Given the description of an element on the screen output the (x, y) to click on. 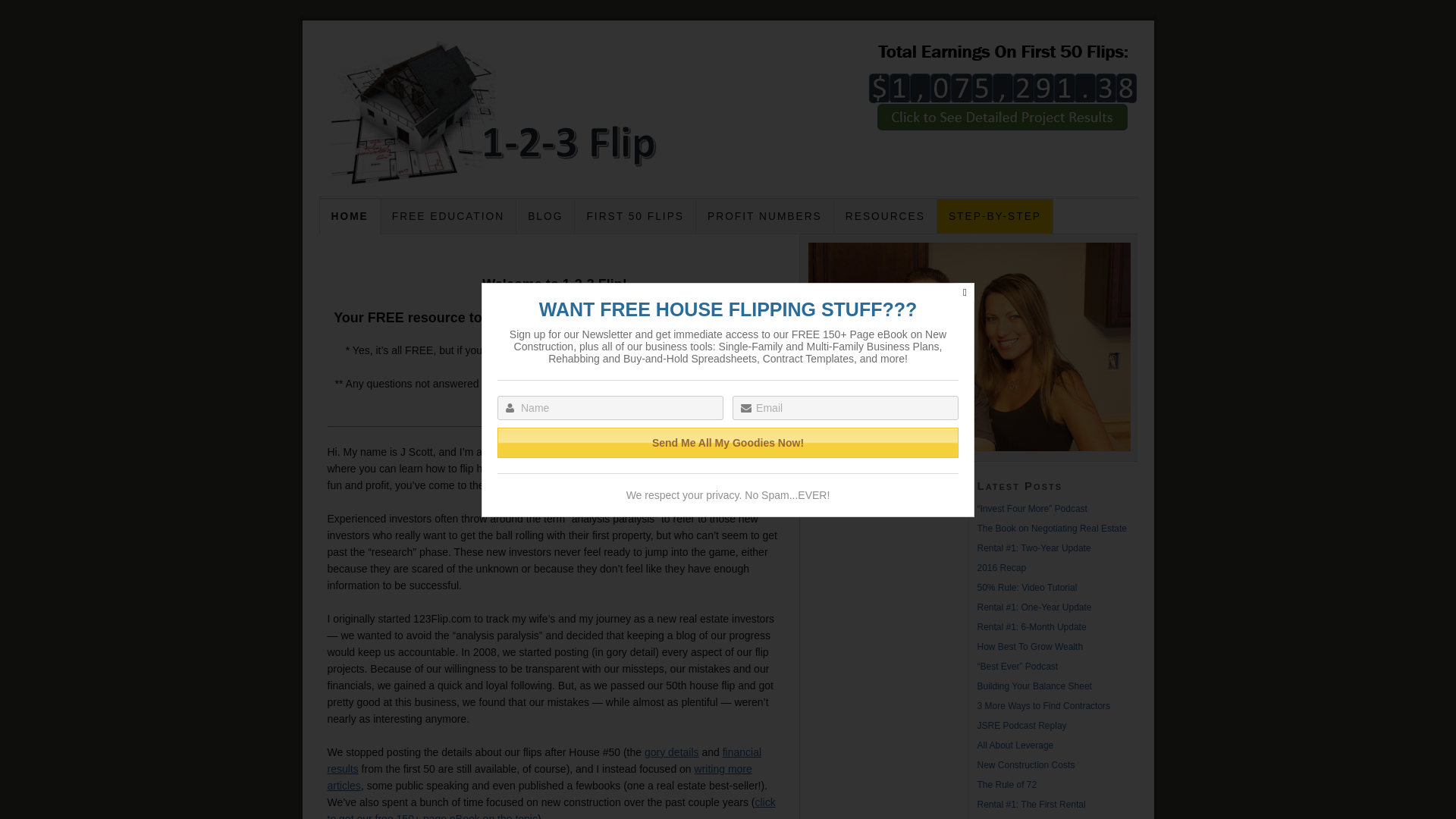
50% Rule: Video Tutorial Element type: text (1026, 587)
BLOG Element type: text (545, 216)
RESOURCES Element type: text (884, 216)
STEP-BY-STEP Element type: text (994, 216)
How Best To Grow Wealth Element type: text (1029, 646)
gory details Element type: text (671, 752)
house flipper Element type: text (575, 451)
Rental #1: The First Rental Element type: text (1030, 804)
Rental #1: One-Year Update Element type: text (1033, 607)
2016 Recap Element type: text (1001, 567)
Send Me All My Goodies Now! Element type: text (727, 442)
The Rule of 72 Element type: text (1006, 784)
Rental #1: Two-Year Update Element type: text (1033, 547)
3 More Ways to Find Contractors Element type: text (1043, 705)
JSRE Podcast Replay Element type: text (1021, 725)
shoot me an email Element type: text (727, 383)
buy my books Element type: text (727, 350)
PROFIT NUMBERS Element type: text (764, 216)
HOME Element type: text (349, 216)
New Construction Costs Element type: text (1025, 764)
All About Leverage Element type: text (1014, 745)
FREE EDUCATION Element type: text (447, 216)
The Book on Negotiating Real Estate Element type: text (1051, 528)
Building Your Balance Sheet Element type: text (1033, 685)
Rental #1: 6-Month Update Element type: text (1030, 626)
financial results Element type: text (544, 760)
FIRST 50 FLIPS Element type: text (634, 216)
writing more articles Element type: text (539, 776)
